Given the description of an element on the screen output the (x, y) to click on. 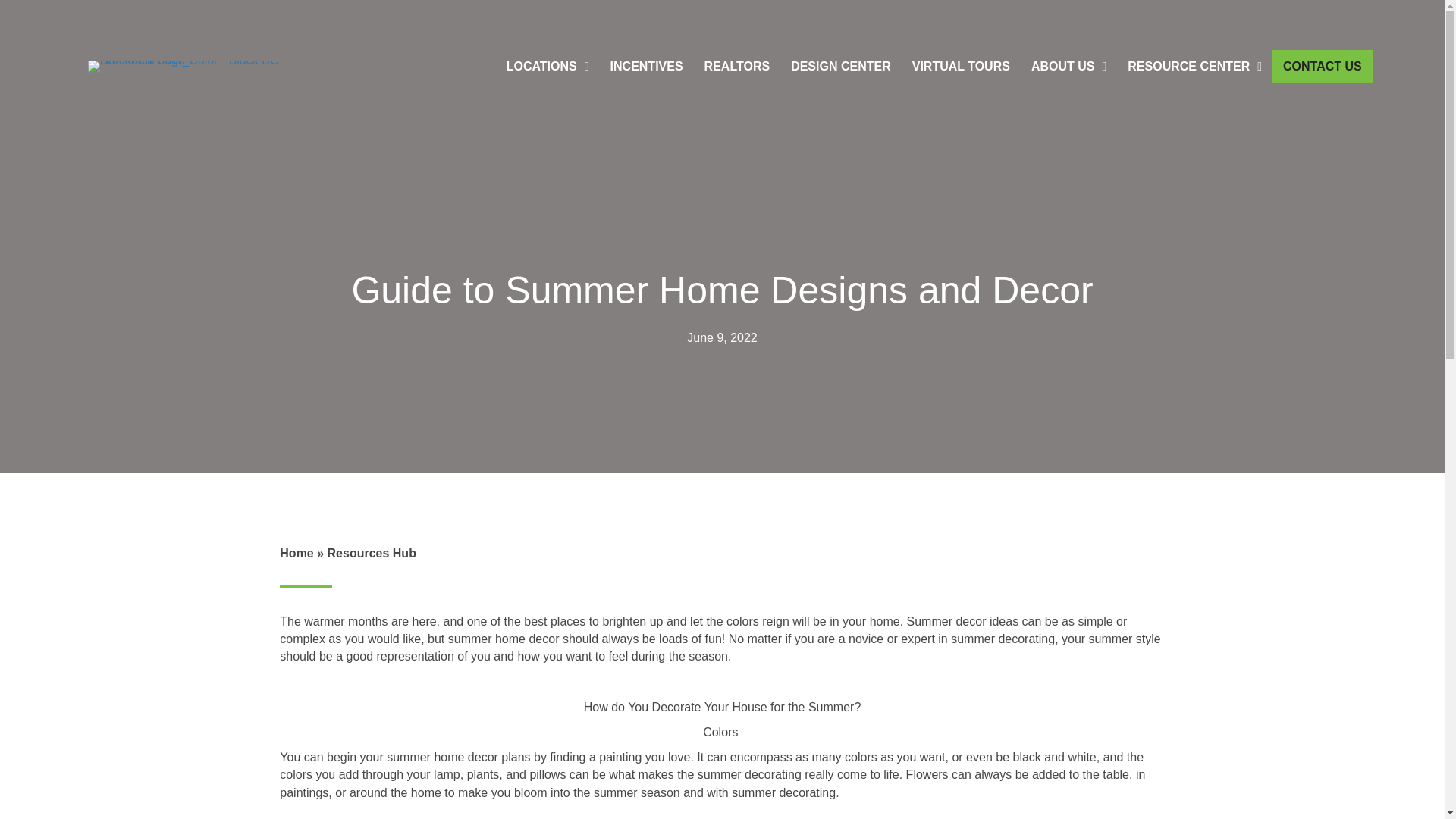
LOCATIONS (547, 66)
VIRTUAL TOURS (960, 66)
INCENTIVES (646, 66)
ABOUT US (1068, 66)
RESOURCE CENTER (1194, 66)
REALTORS (737, 66)
DESIGN CENTER (840, 66)
CONTACT US (1322, 66)
